Given the description of an element on the screen output the (x, y) to click on. 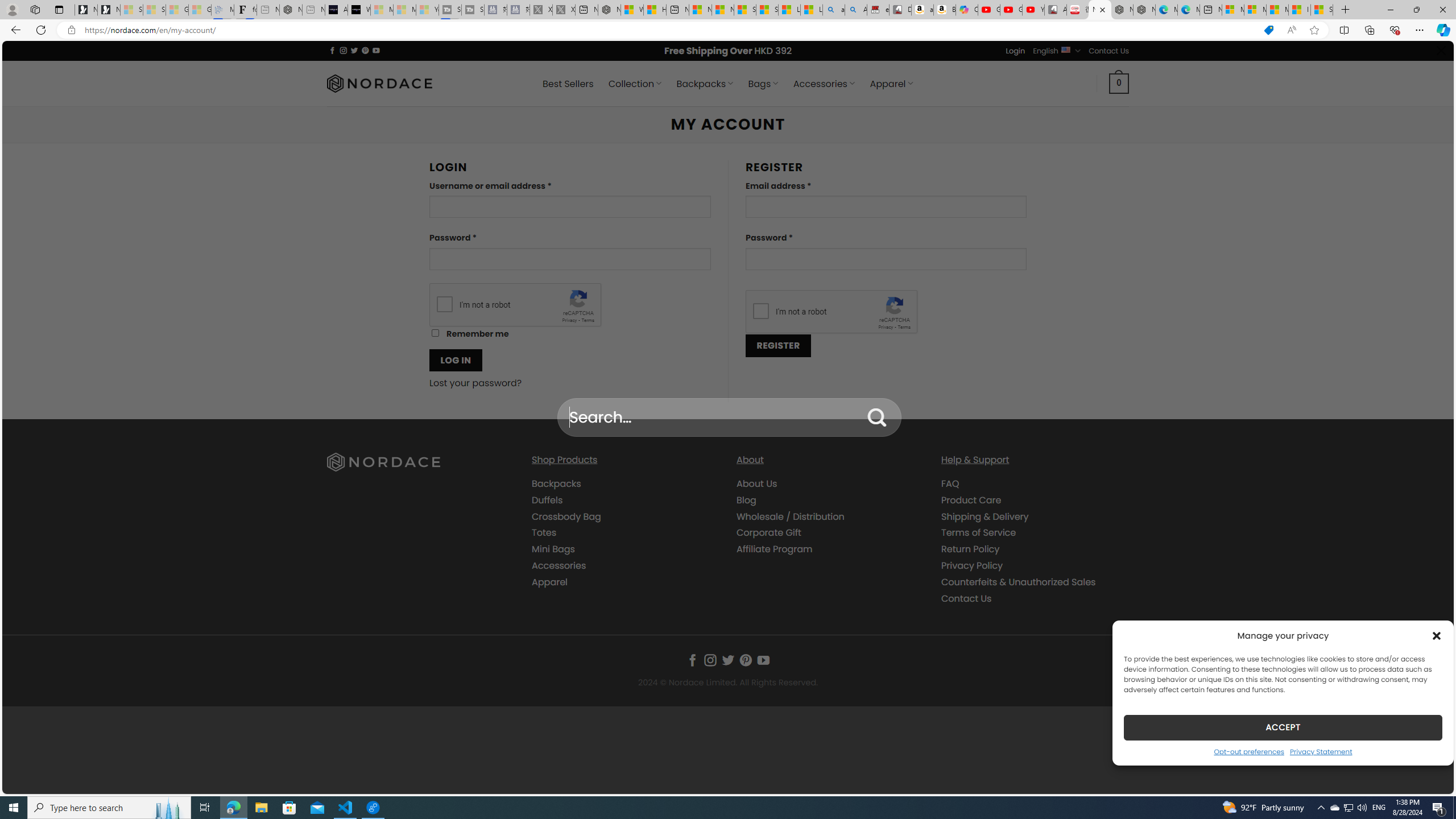
  0   (1118, 83)
 0  (1118, 83)
Product Care (1034, 499)
Class: cmplz-close (1436, 635)
Apparel (549, 581)
AI Voice Changer for PC and Mac - Voice.ai (336, 9)
Blog (746, 499)
Follow on Instagram (710, 659)
